Given the description of an element on the screen output the (x, y) to click on. 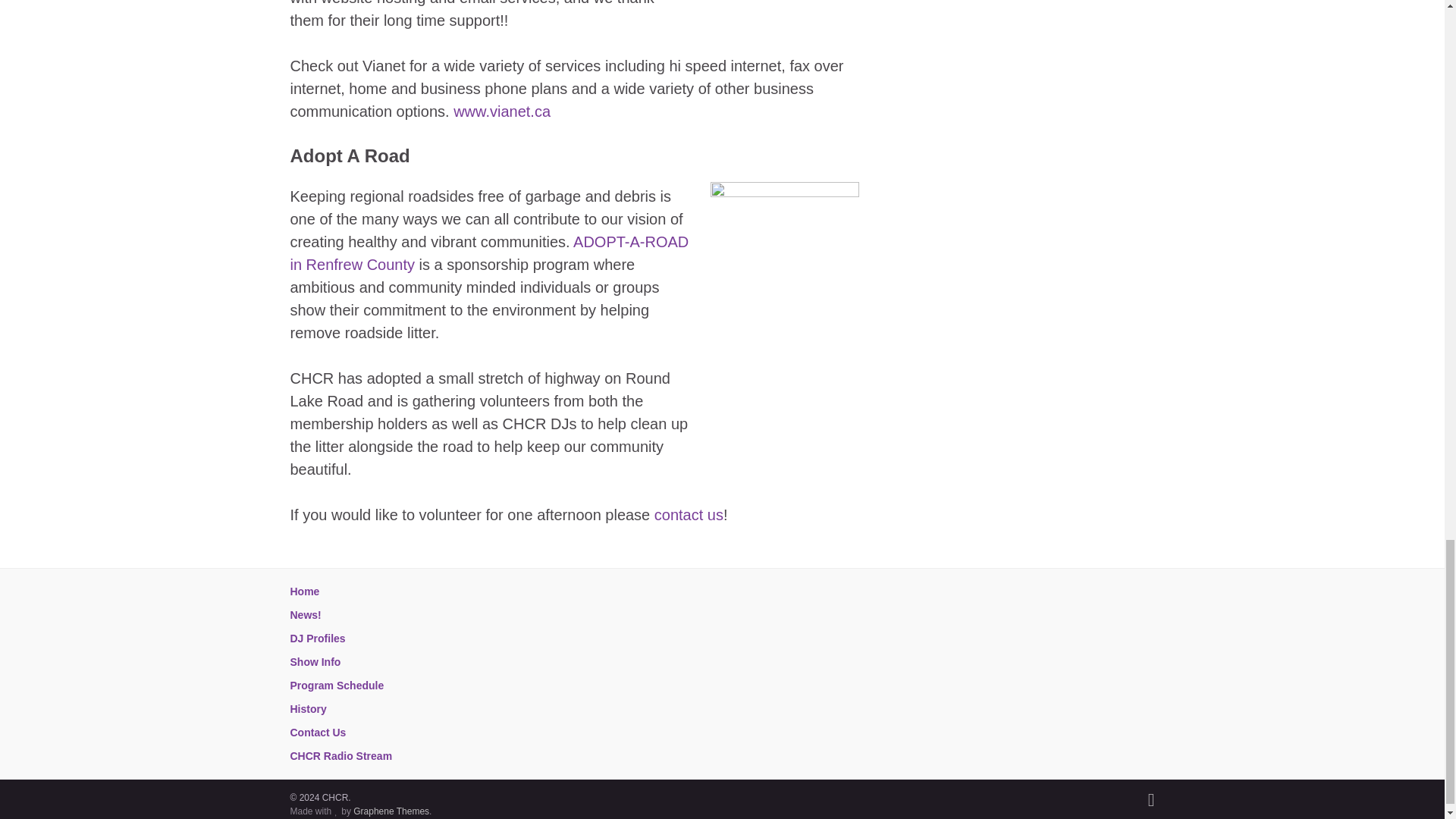
www.vianet.ca (501, 111)
DJ Profiles (317, 638)
News! (304, 614)
Home (303, 591)
contact us (688, 514)
History (307, 708)
Show Info (314, 662)
Contact Us (317, 732)
Program Schedule (336, 685)
CHCR Radio Stream (340, 756)
Graphene Themes (391, 810)
ADOPT-A-ROAD in Renfrew County (488, 252)
